Given the description of an element on the screen output the (x, y) to click on. 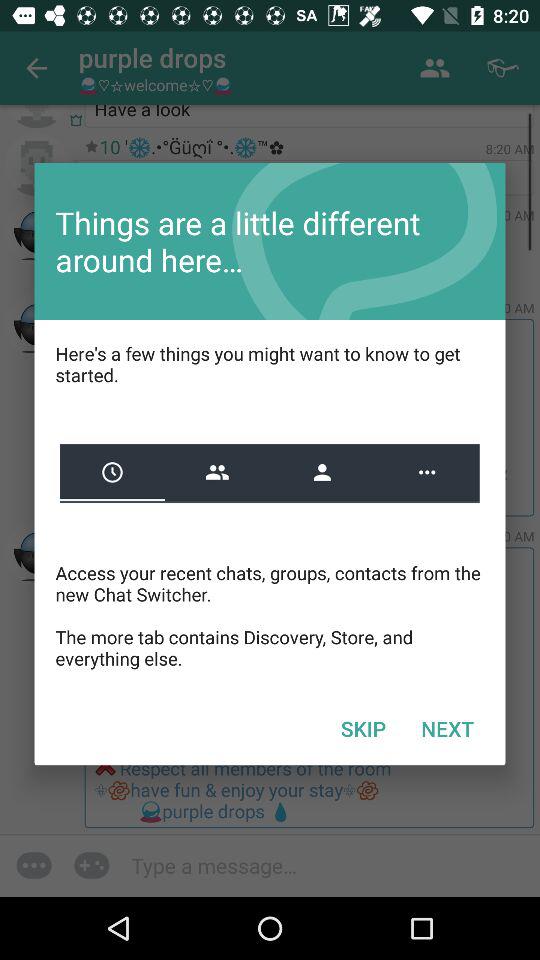
open item below the access your recent icon (447, 728)
